Given the description of an element on the screen output the (x, y) to click on. 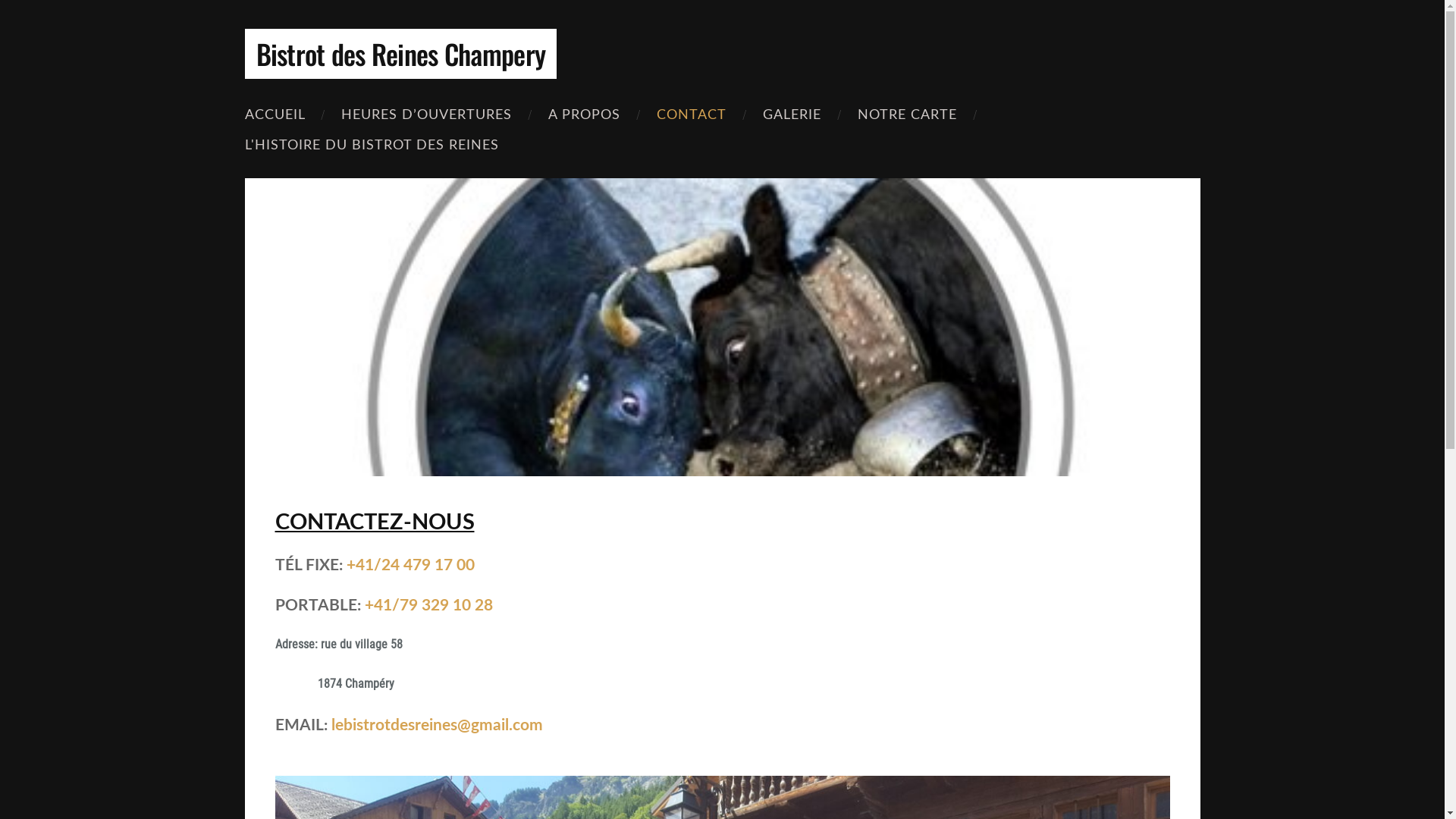
+41/24 479 17 00 Element type: text (409, 563)
lebistrotdesreines@gmail.com Element type: text (436, 723)
L'HISTOIRE DU BISTROT DES REINES Element type: text (371, 143)
A PROPOS Element type: text (584, 113)
Bistrot des Reines Champery Element type: text (400, 61)
GALERIE Element type: text (791, 113)
NOTRE CARTE Element type: text (906, 113)
CONTACT Element type: text (691, 113)
+41/79 329 10 28 Element type: text (428, 604)
ACCUEIL Element type: text (275, 113)
